Given the description of an element on the screen output the (x, y) to click on. 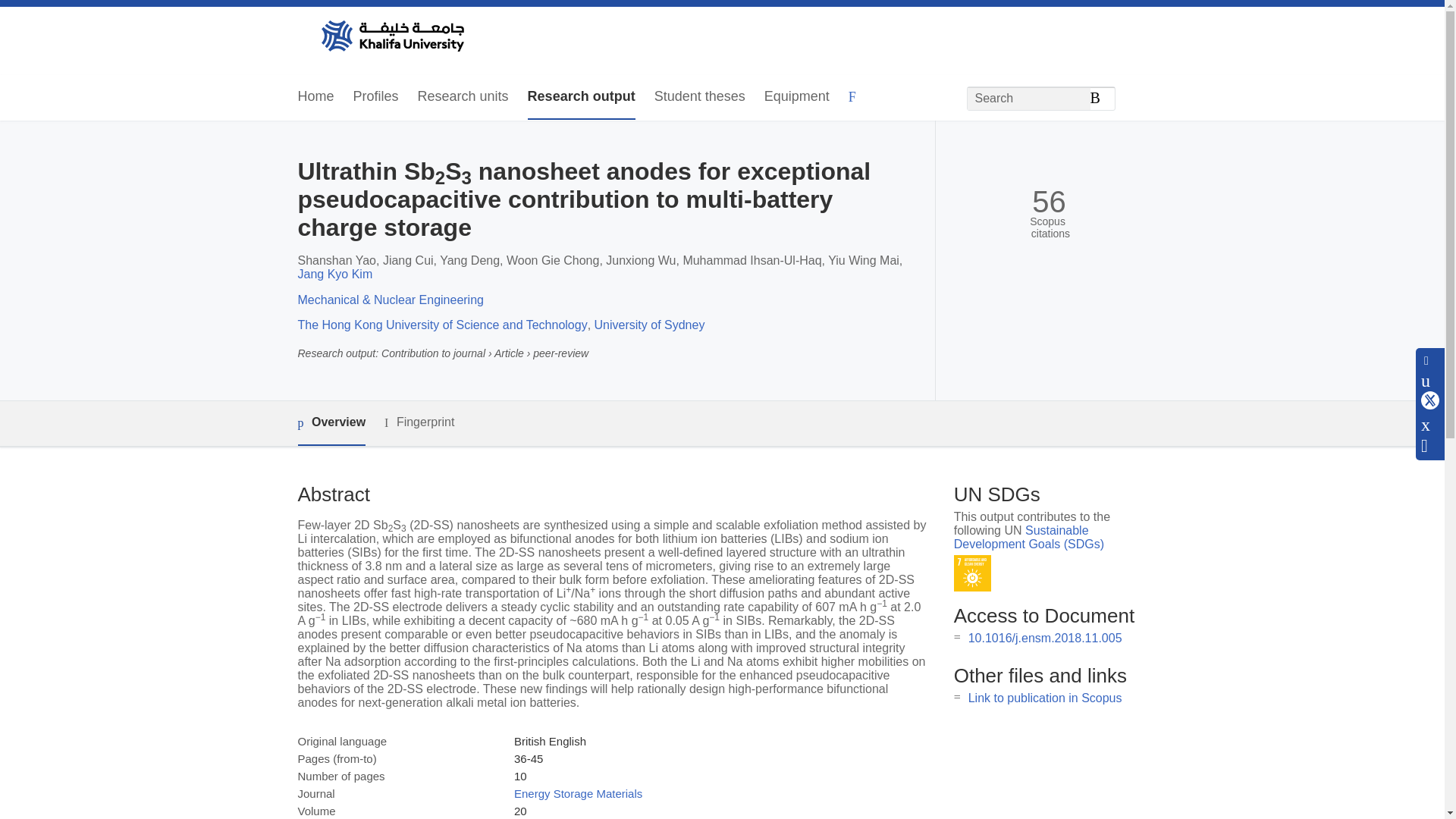
Fingerprint (419, 422)
Khalifa University Home (391, 37)
Research output (580, 97)
Research units (462, 97)
Profiles (375, 97)
SDG 7 - Affordable and Clean Energy (972, 573)
Student theses (699, 97)
Equipment (796, 97)
Energy Storage Materials (577, 793)
Overview (331, 423)
University of Sydney (649, 324)
The Hong Kong University of Science and Technology (441, 324)
Jang Kyo Kim (334, 273)
Link to publication in Scopus (1045, 697)
